Given the description of an element on the screen output the (x, y) to click on. 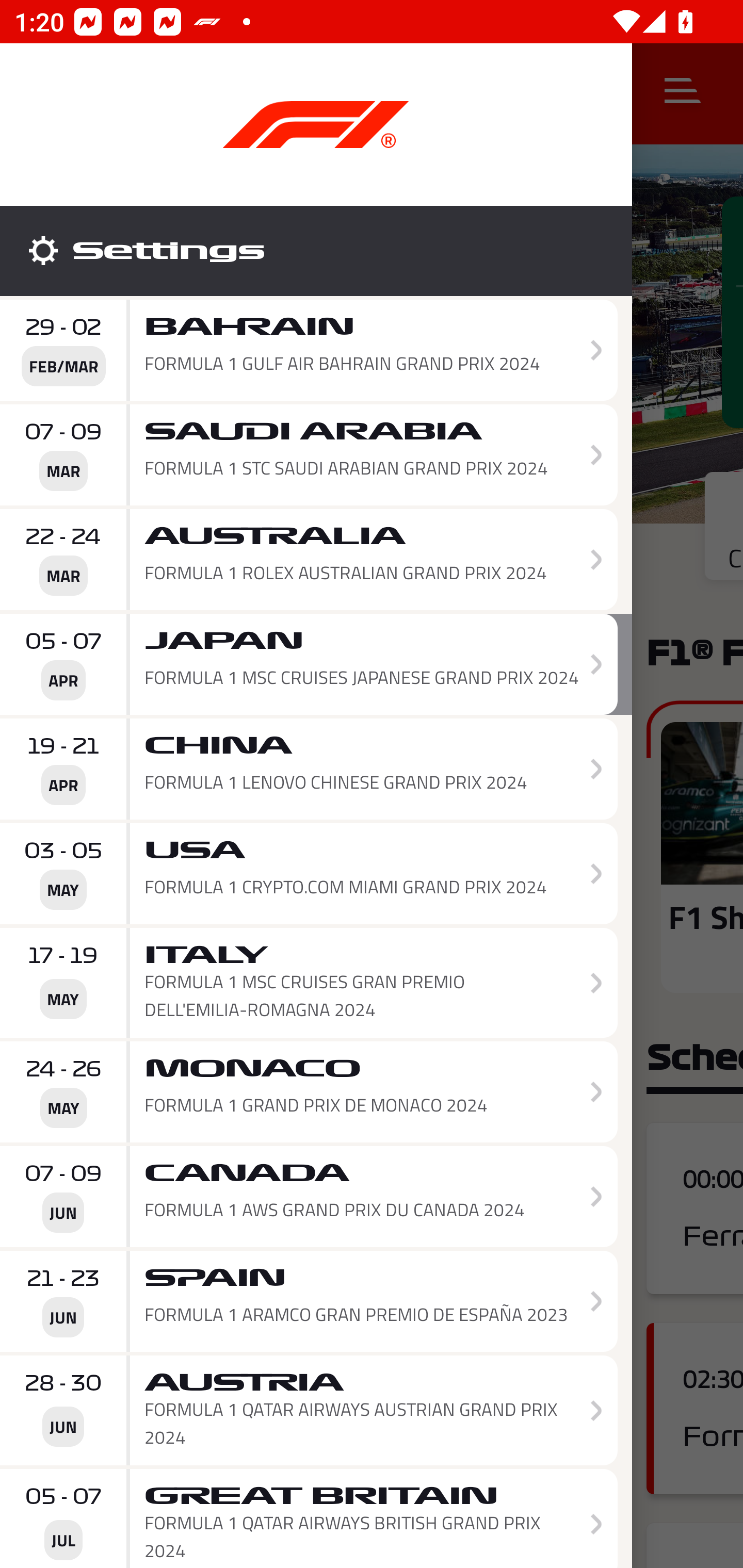
Settings (316, 250)
